Given the description of an element on the screen output the (x, y) to click on. 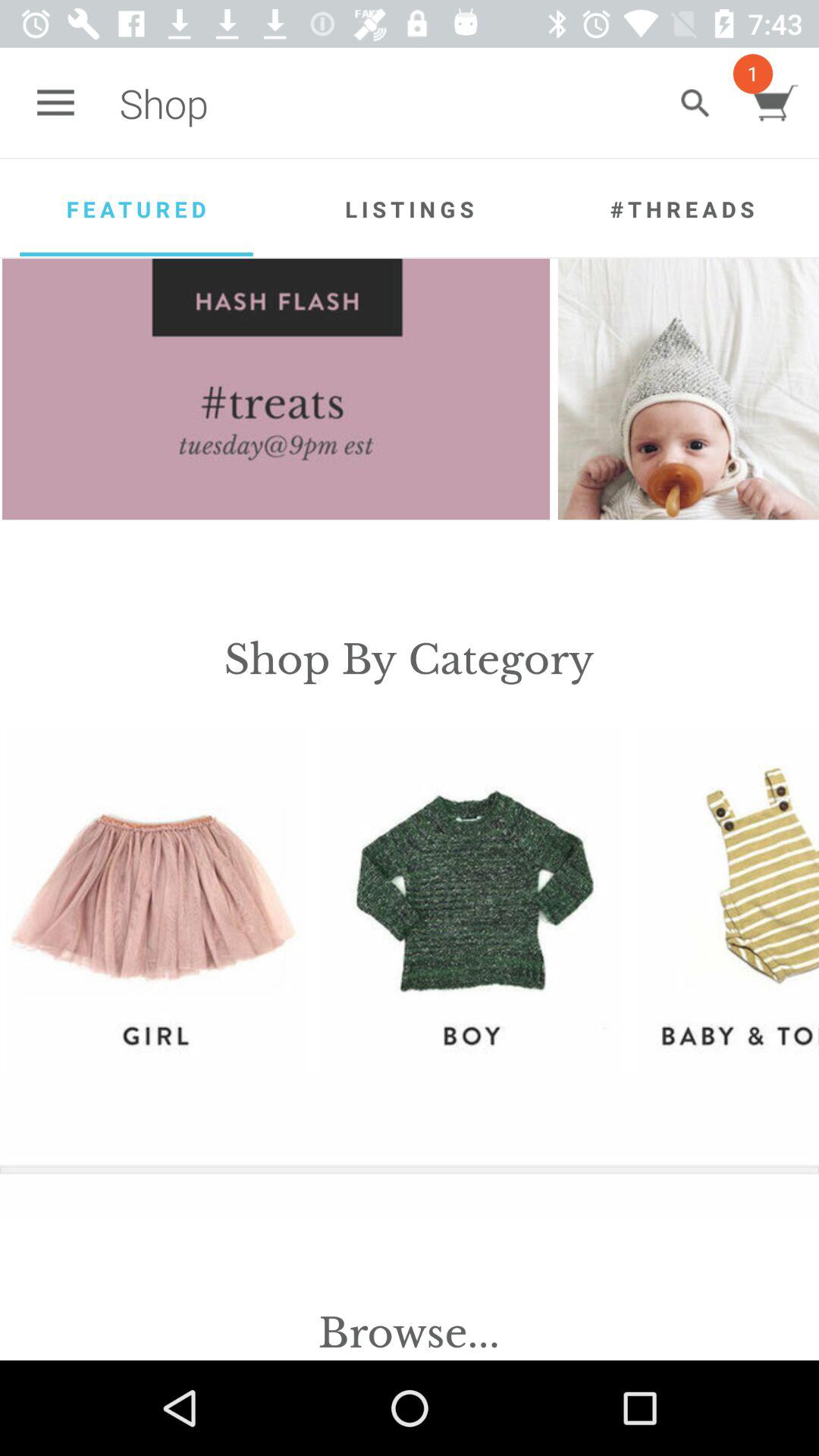
turn on icon next to the shop item (55, 103)
